Given the description of an element on the screen output the (x, y) to click on. 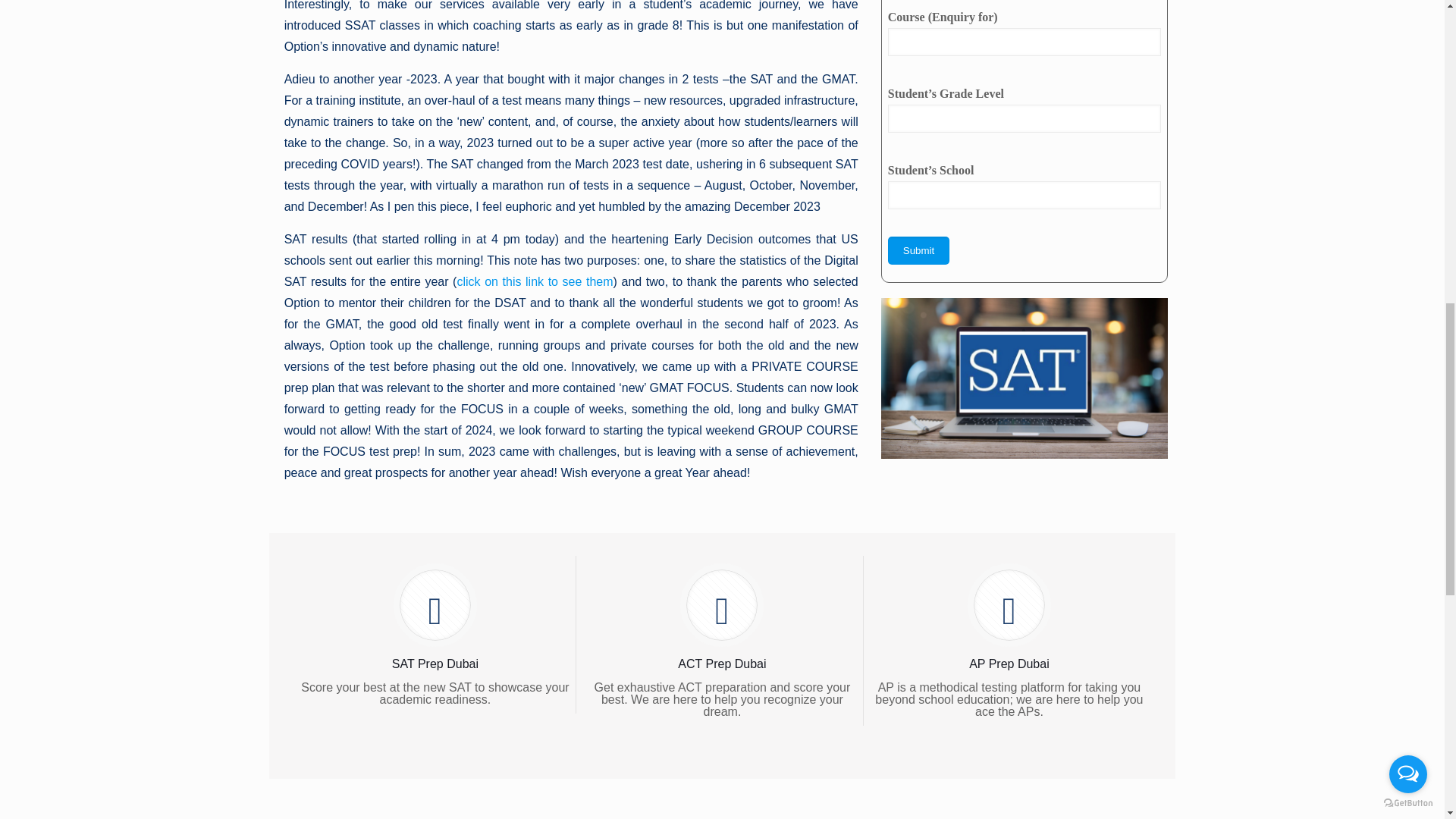
Submit (918, 250)
Submit (918, 250)
click on this link to see them (534, 281)
